Given the description of an element on the screen output the (x, y) to click on. 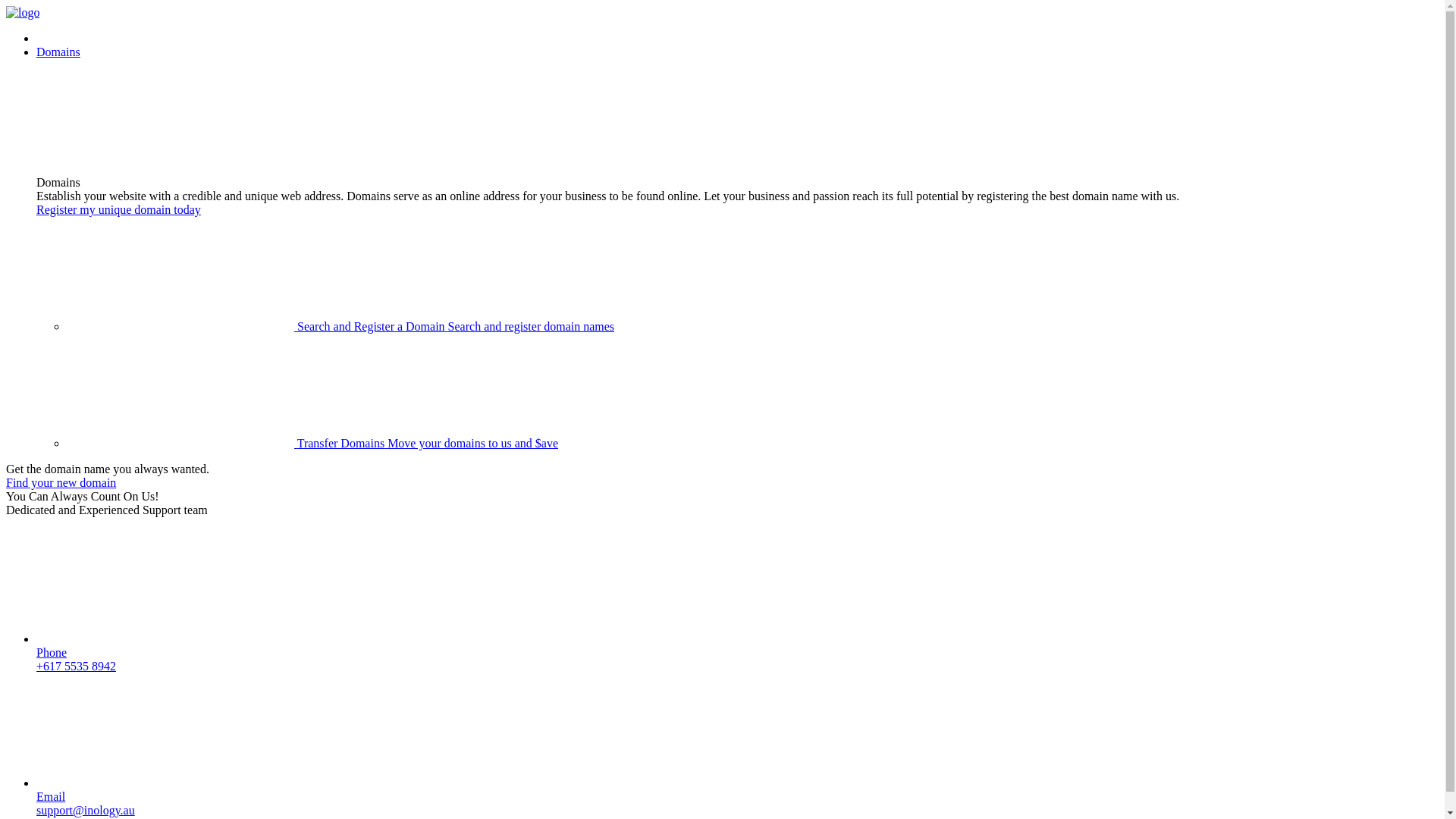
Phone
+617 5535 8942 Element type: text (737, 601)
Email
support@inology.au Element type: text (737, 745)
Transfer Domains Move your domains to us and $ave Element type: text (312, 442)
Domains Element type: text (58, 51)
Find your new domain Element type: text (61, 482)
Register my unique domain today Element type: text (118, 209)
